Given the description of an element on the screen output the (x, y) to click on. 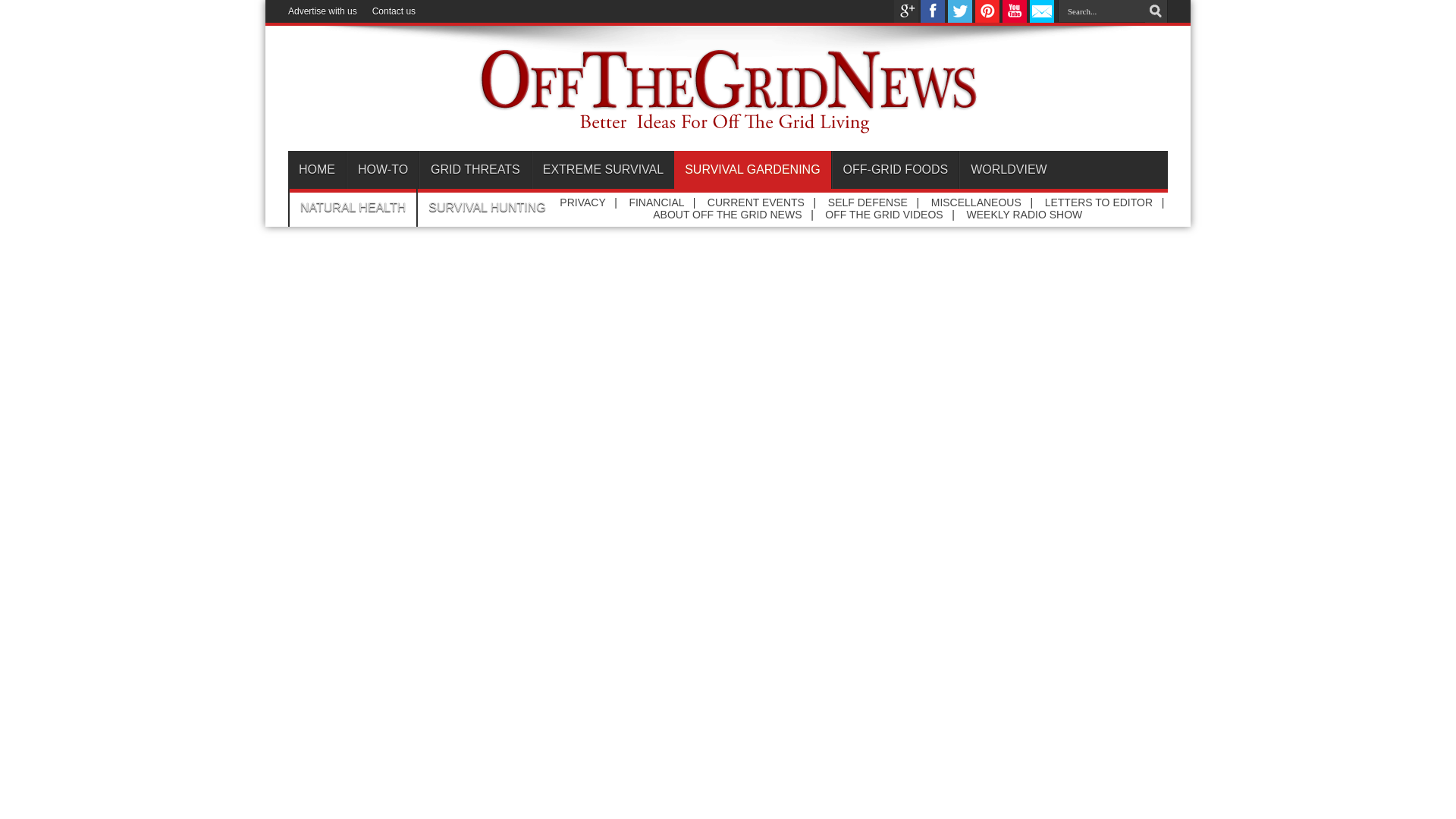
LETTERS TO EDITOR (1099, 202)
PRIVACY (582, 202)
MISCELLANEOUS (976, 202)
HOW-TO (382, 169)
Contact us (393, 11)
FINANCIAL (656, 202)
Search (1155, 11)
SELF DEFENSE (867, 202)
WEEKLY RADIO SHOW (1024, 214)
Search (1155, 11)
Advertise with us (322, 11)
CURRENT EVENTS (756, 202)
WORLDVIEW (1008, 169)
OFF THE GRID VIDEOS (883, 214)
Search (1155, 11)
